Given the description of an element on the screen output the (x, y) to click on. 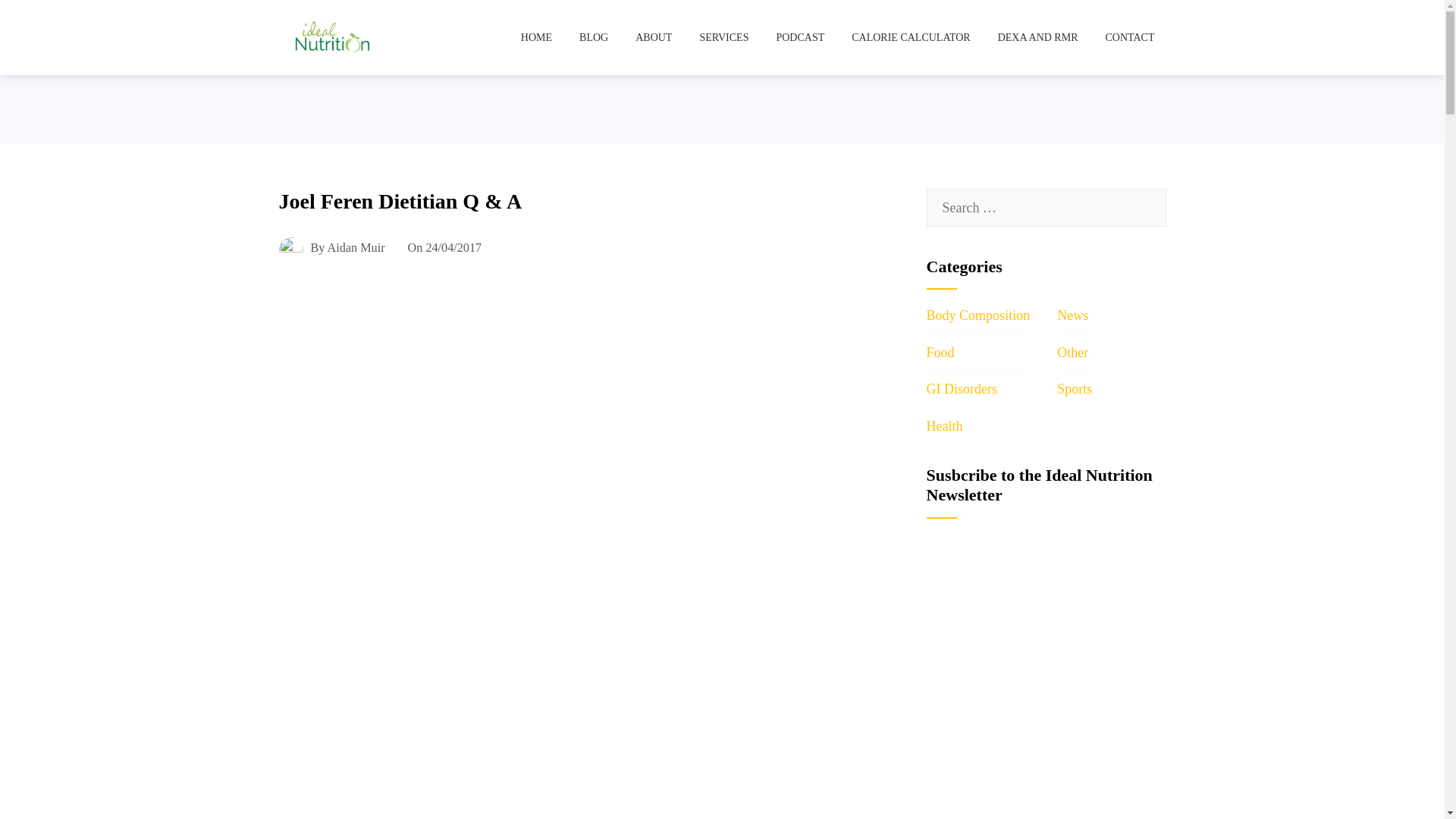
Sports (1074, 388)
GI Disorders (961, 388)
Other (1072, 352)
DEXA AND RMR (1038, 37)
PODCAST (799, 37)
HOME (536, 37)
CONTACT (1129, 37)
Search (37, 18)
CALORIE CALCULATOR (910, 37)
ABOUT (653, 37)
